Given the description of an element on the screen output the (x, y) to click on. 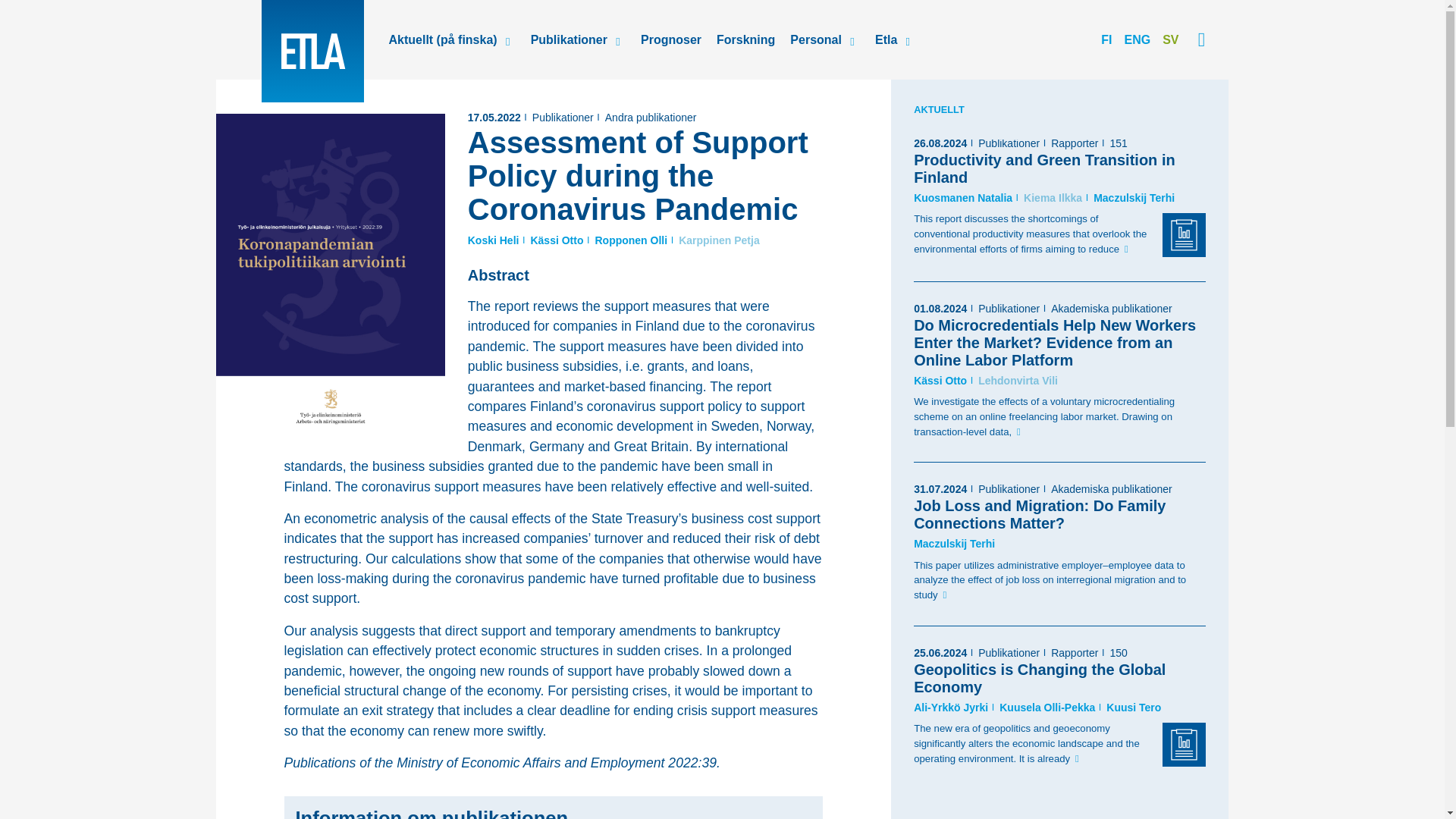
Personal (812, 39)
ENG (1137, 39)
Ropponen Olli (630, 239)
Publikationer (563, 117)
Publikationer (564, 39)
Etla (311, 51)
Forskning (746, 39)
Prognoser (671, 39)
Andra publikationer (651, 117)
Koski Heli (493, 239)
